Given the description of an element on the screen output the (x, y) to click on. 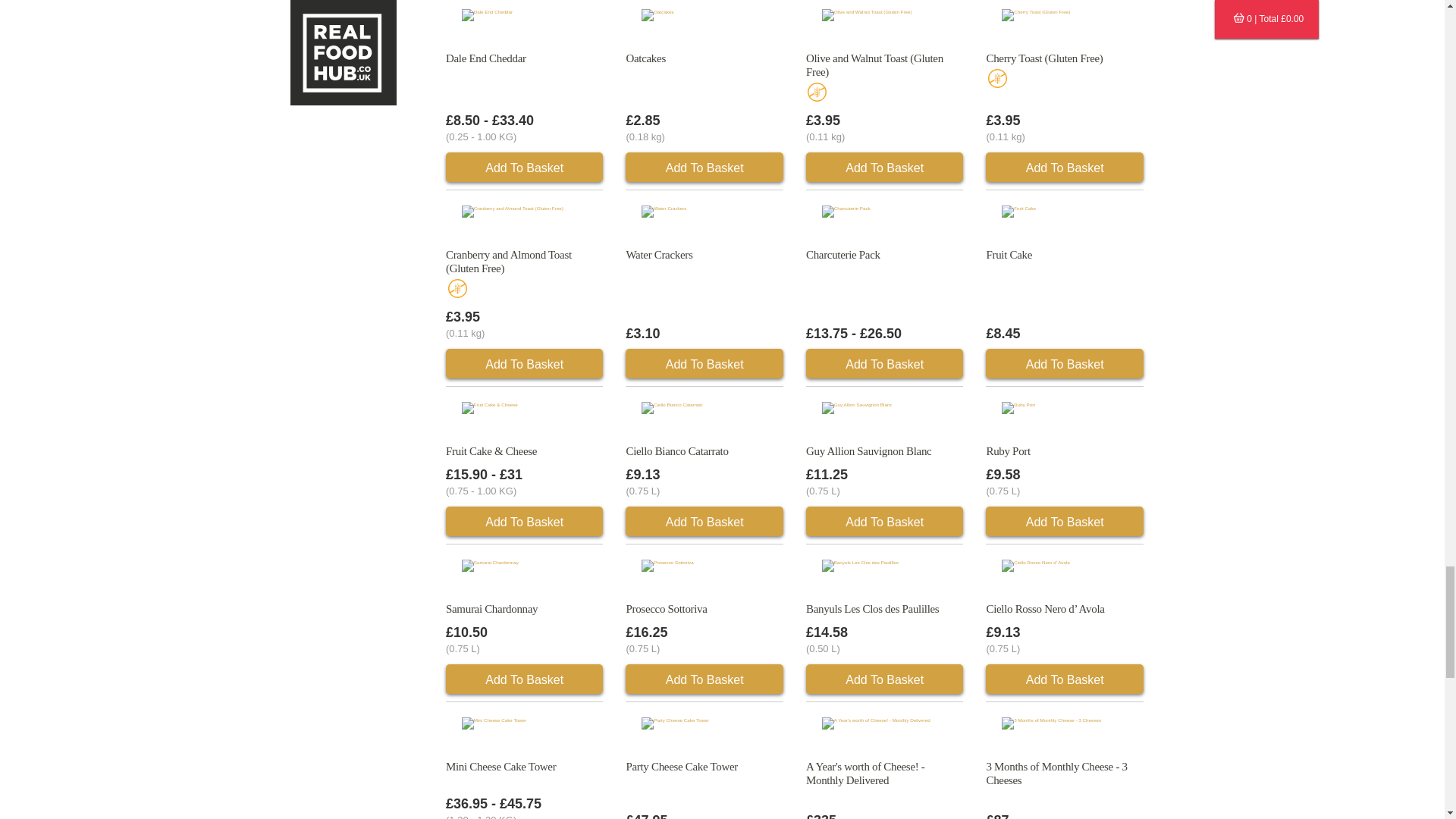
Gluten Free (996, 77)
Gluten Free (817, 91)
Gluten Free (455, 288)
